Given the description of an element on the screen output the (x, y) to click on. 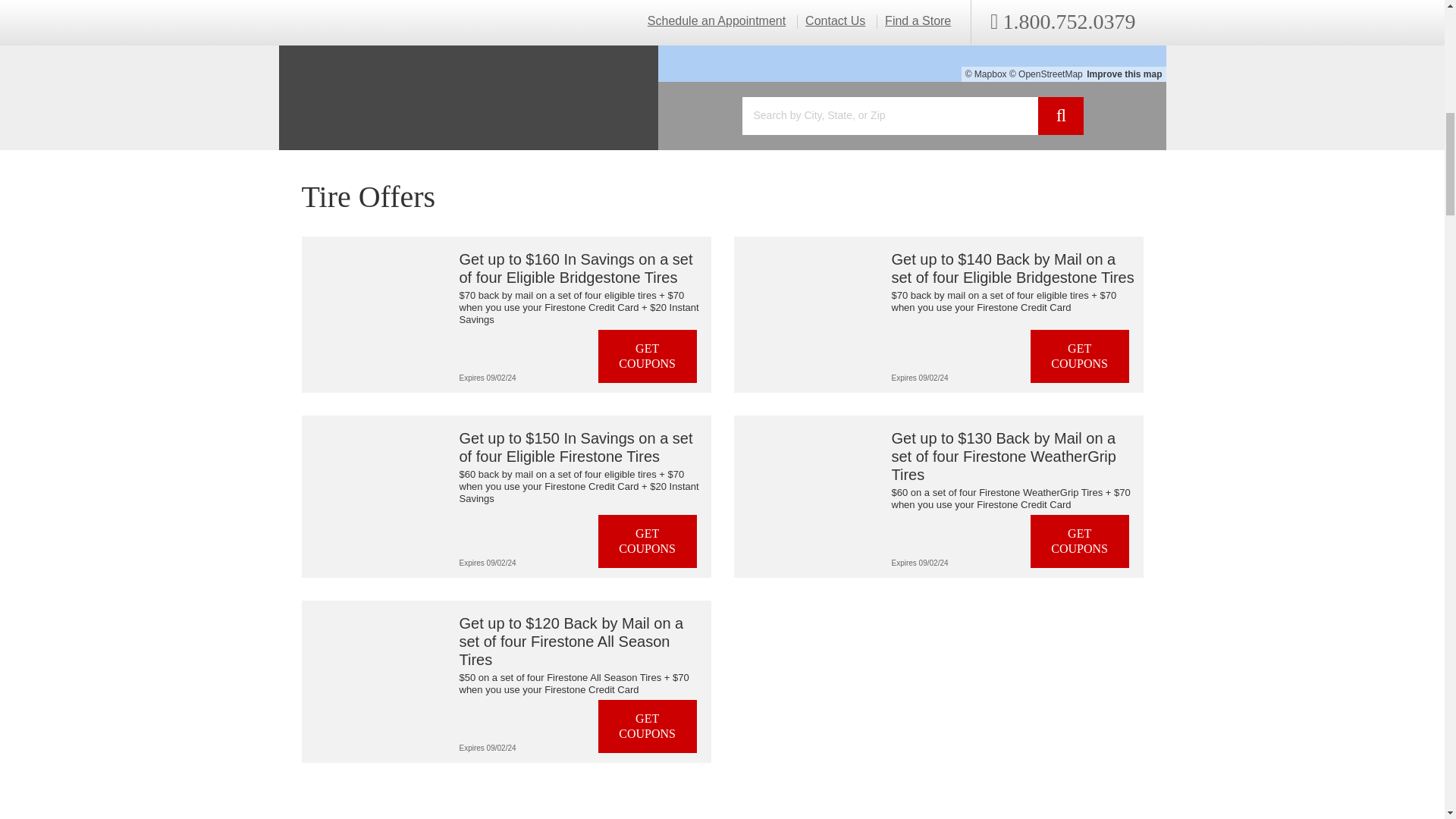
OpenStreetMap (1046, 73)
GO (1059, 116)
Improve this map (1123, 73)
Mapbox (986, 73)
